Given the description of an element on the screen output the (x, y) to click on. 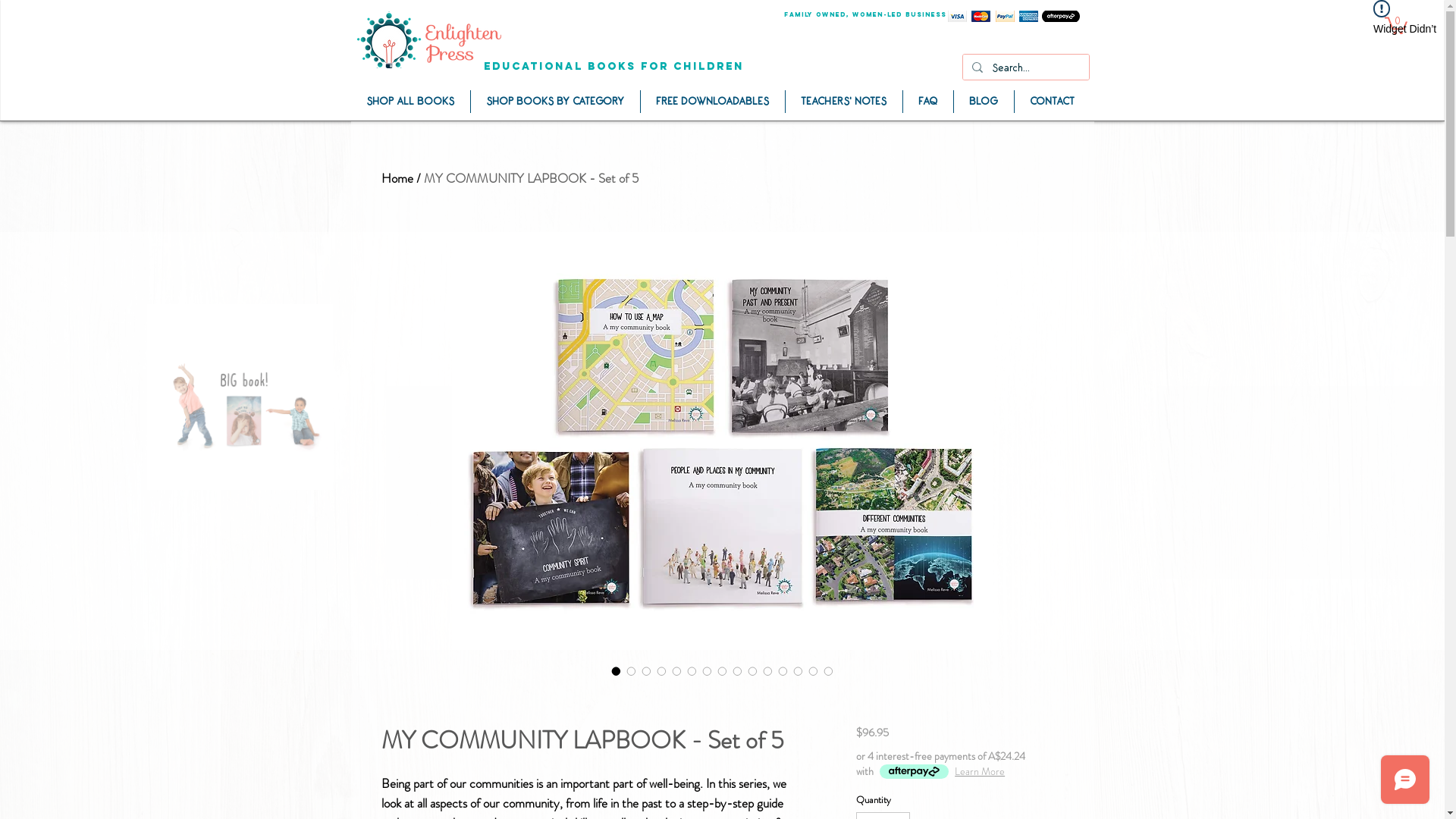
SHOP ALL BOOKS Element type: text (409, 101)
BLOG Element type: text (983, 101)
CONTACT Element type: text (1052, 101)
0 Element type: text (1395, 24)
Learn More Element type: text (979, 770)
MY COMMUNITY LAPBOOK - Set of 5 Element type: text (530, 178)
Enlighten Press Logo.png Element type: hover (428, 39)
TEACHERS' NOTES Element type: text (843, 101)
FREE DOWNLOADABLES Element type: text (712, 101)
Home Element type: text (396, 178)
